Given the description of an element on the screen output the (x, y) to click on. 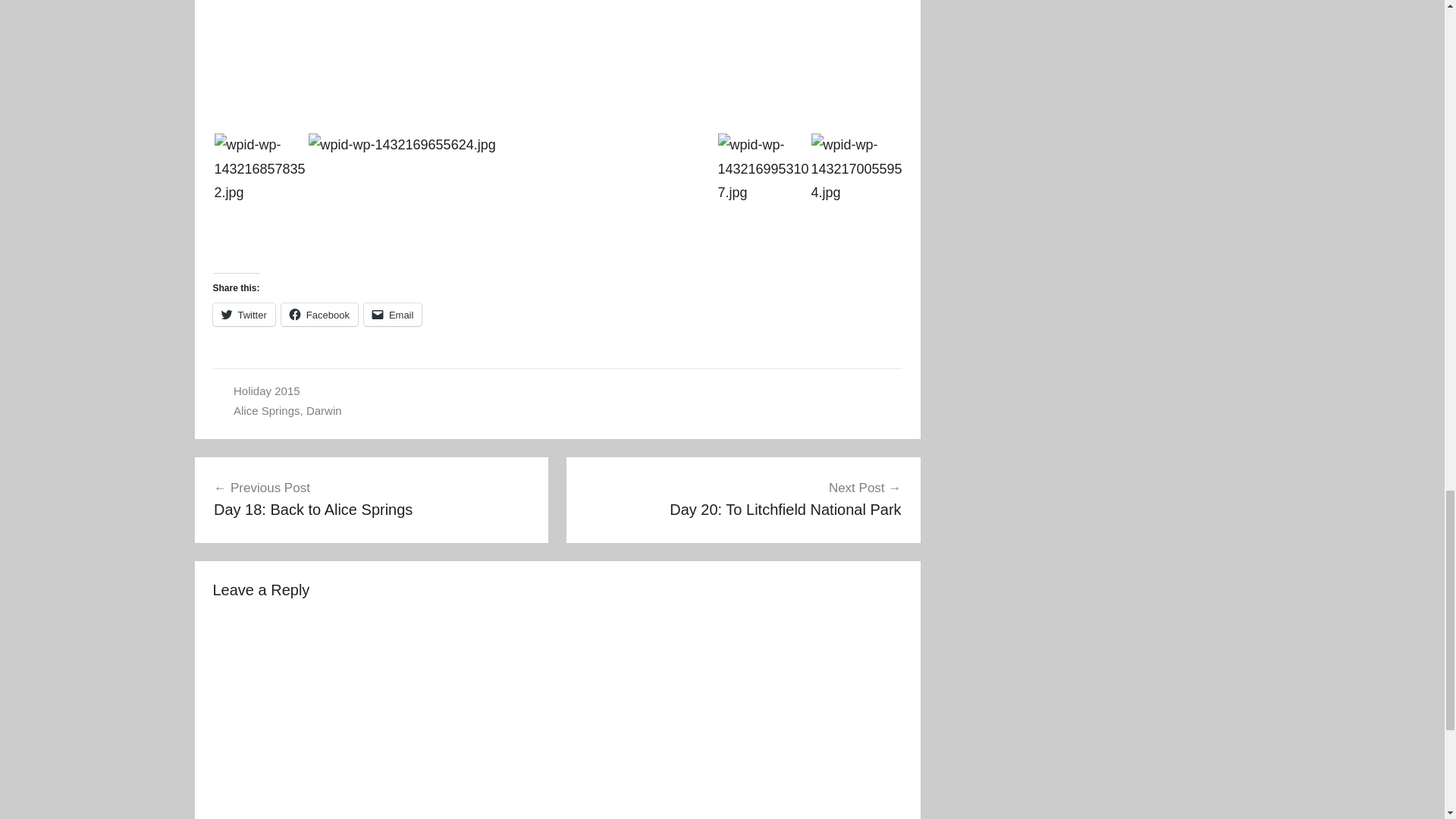
Twitter (243, 314)
Alice Springs (743, 498)
wpid-wp-1432169655624.jpg (265, 410)
Click to email a link to a friend (401, 145)
wpid-wp-1432169953107.jpg (393, 314)
wpid-wp-1432168578352.jpg (763, 169)
Click to share on Facebook (260, 169)
Email (319, 314)
